Given the description of an element on the screen output the (x, y) to click on. 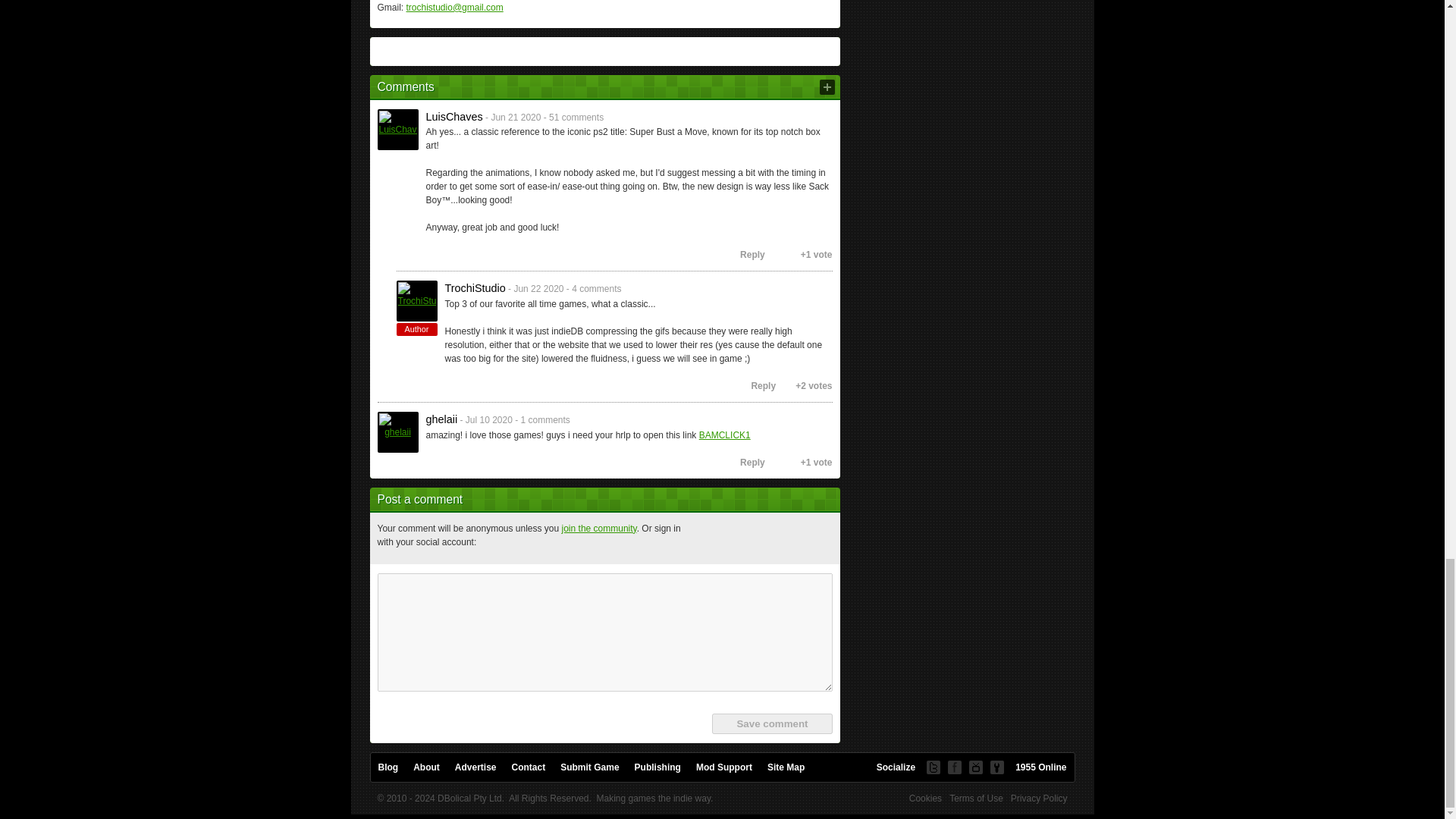
Good karma (774, 254)
LuisChaves (398, 128)
Reply (745, 254)
Post comment (826, 87)
Save comment (771, 723)
Bad karma (790, 254)
